Given the description of an element on the screen output the (x, y) to click on. 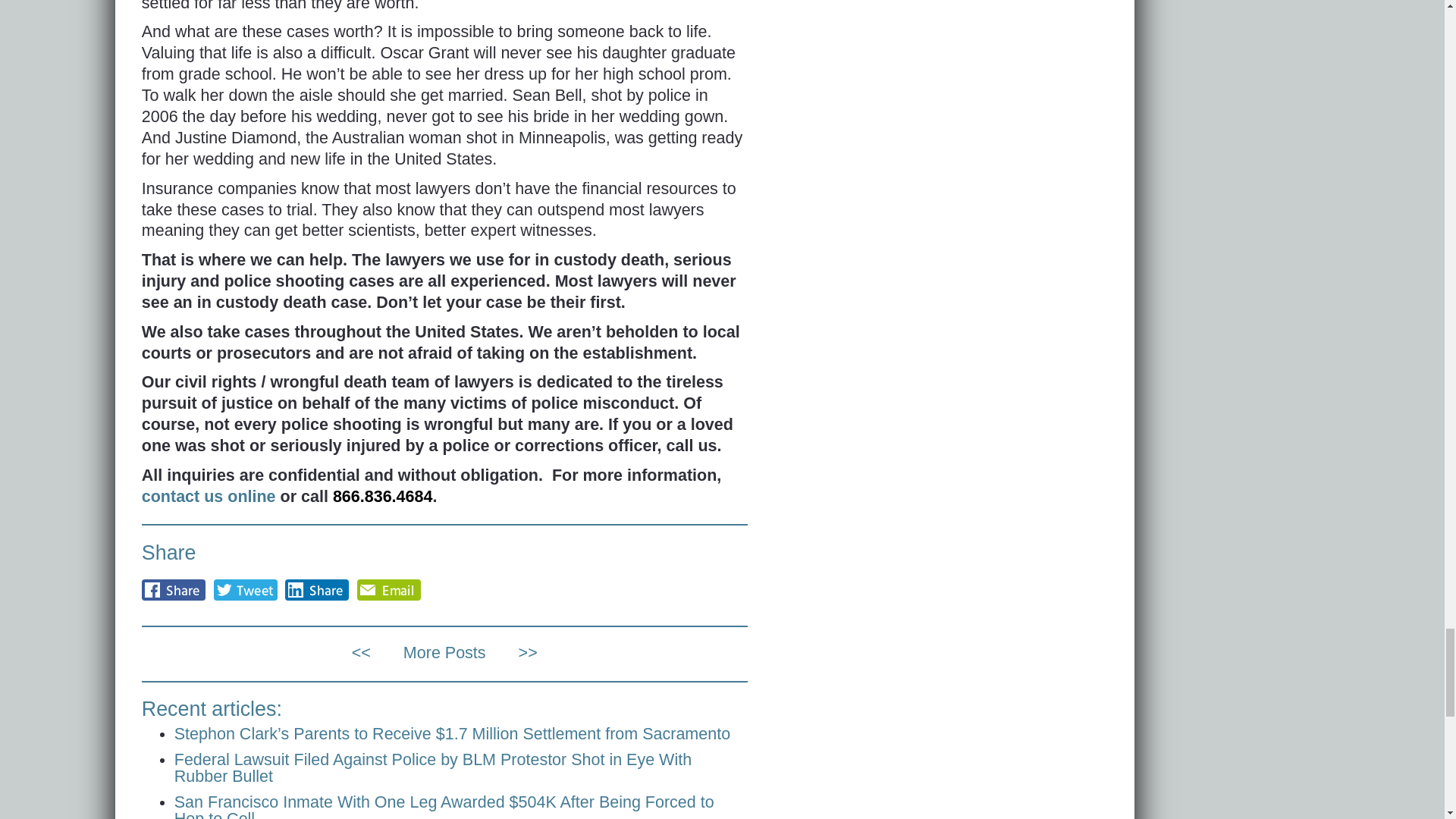
contact us online (208, 496)
866.836.4684 (382, 496)
